Given the description of an element on the screen output the (x, y) to click on. 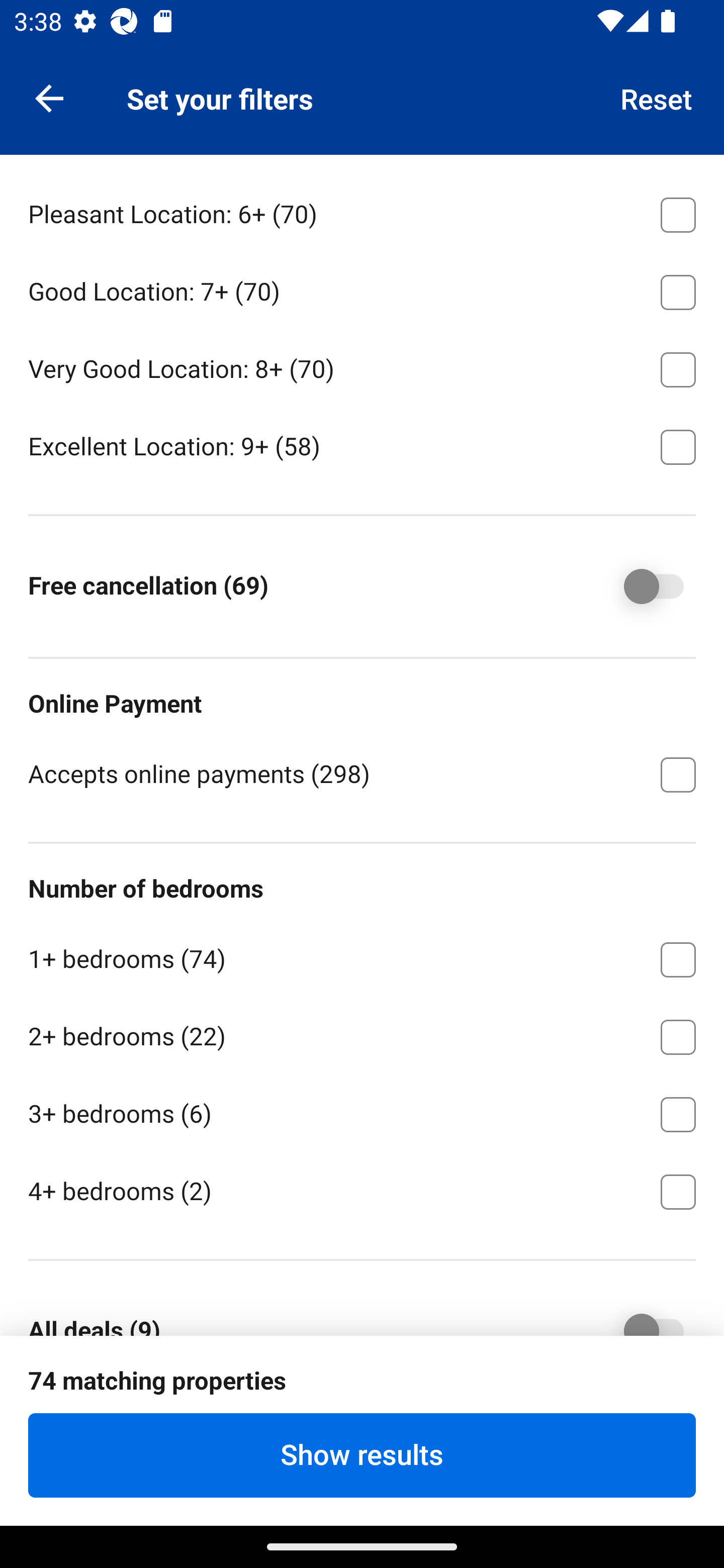
Navigate up (49, 97)
Reset (656, 97)
Pleasant Location: 6+ ⁦(70) (361, 211)
Good Location: 7+ ⁦(70) (361, 288)
Very Good Location: 8+ ⁦(70) (361, 365)
Excellent Location: 9+ ⁦(58) (361, 445)
Free cancellation ⁦(69) (639, 586)
Accepts online payments ⁦(298) (361, 772)
1+ bedrooms ⁦(74) (361, 956)
2+ bedrooms ⁦(22) (361, 1033)
3+ bedrooms ⁦(6) (361, 1110)
4+ bedrooms ⁦(2) (361, 1189)
All deals ⁦(9) (639, 1311)
Show results (361, 1454)
